Given the description of an element on the screen output the (x, y) to click on. 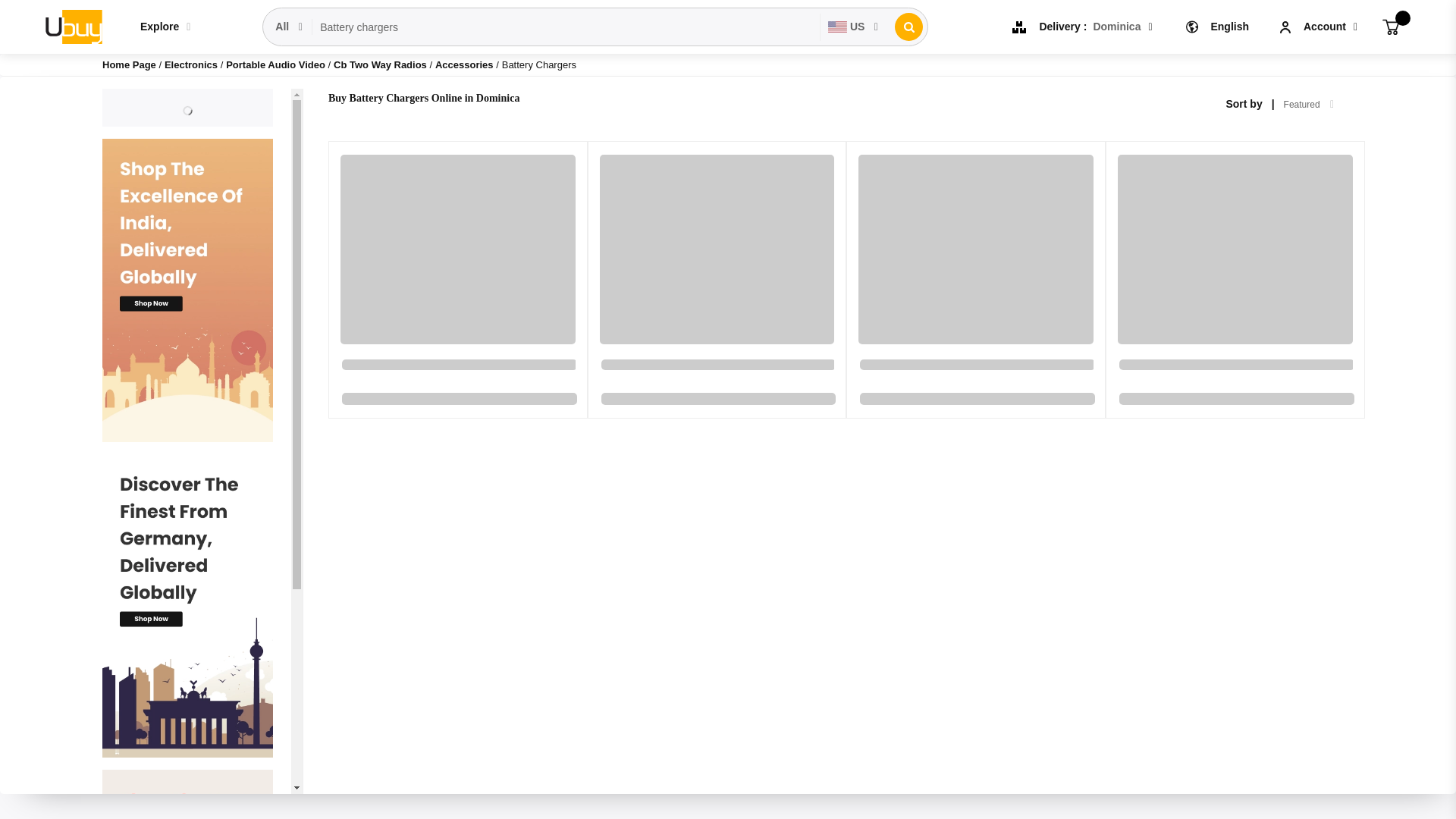
Battery chargers (566, 26)
All (289, 26)
Ubuy (73, 26)
Home Page (128, 64)
US (853, 26)
Cart (1390, 26)
Battery chargers (566, 26)
Home Page (128, 64)
Electronics (192, 64)
